Given the description of an element on the screen output the (x, y) to click on. 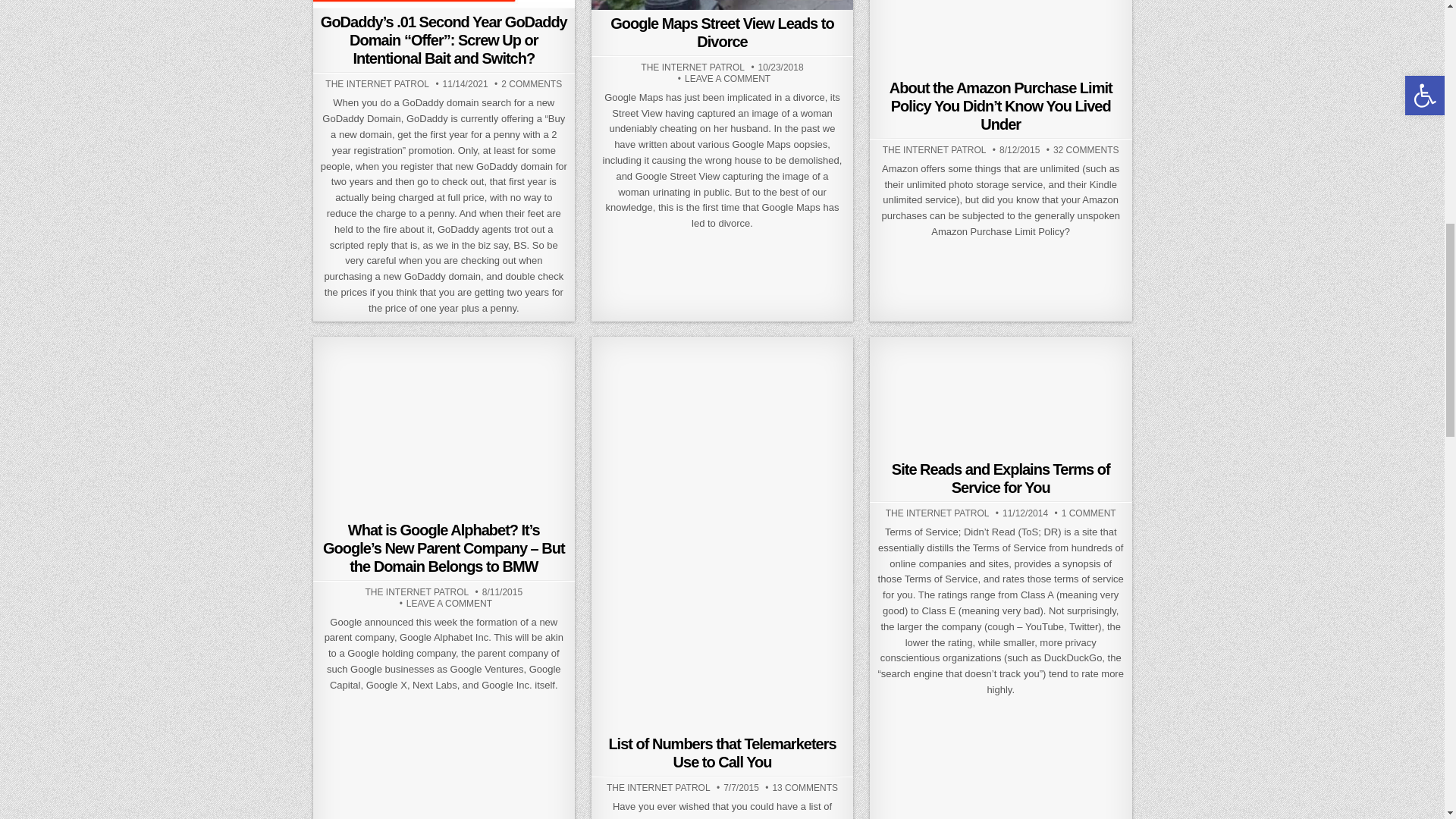
2 COMMENTS (531, 83)
THE INTERNET PATROL (692, 67)
Permanent Link to Google Maps Street View Leads to Divorce (722, 4)
Google Maps Street View Leads to Divorce (721, 32)
LEAVE A COMMENT (727, 78)
THE INTERNET PATROL (376, 83)
